Given the description of an element on the screen output the (x, y) to click on. 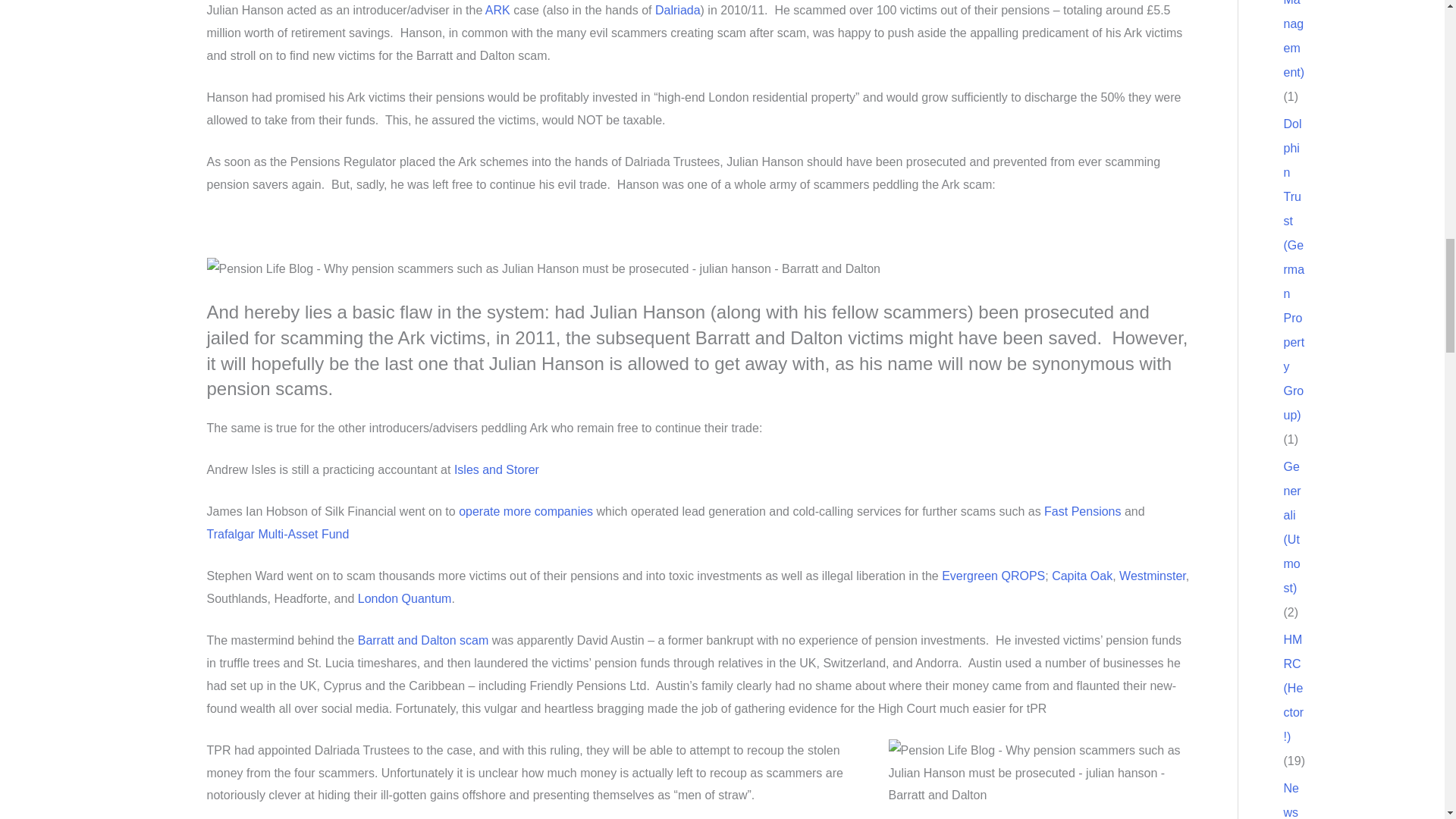
Evergreen QROPS (993, 575)
Dalriada (677, 10)
Westminster (1152, 575)
Fast Pensions (1082, 511)
Barratt and Dalton scam (423, 640)
Isles and Storer (496, 469)
Trafalgar Multi-Asset Fund (277, 533)
ARK (497, 10)
operate more companies (525, 511)
Capita Oak (1081, 575)
